Given the description of an element on the screen output the (x, y) to click on. 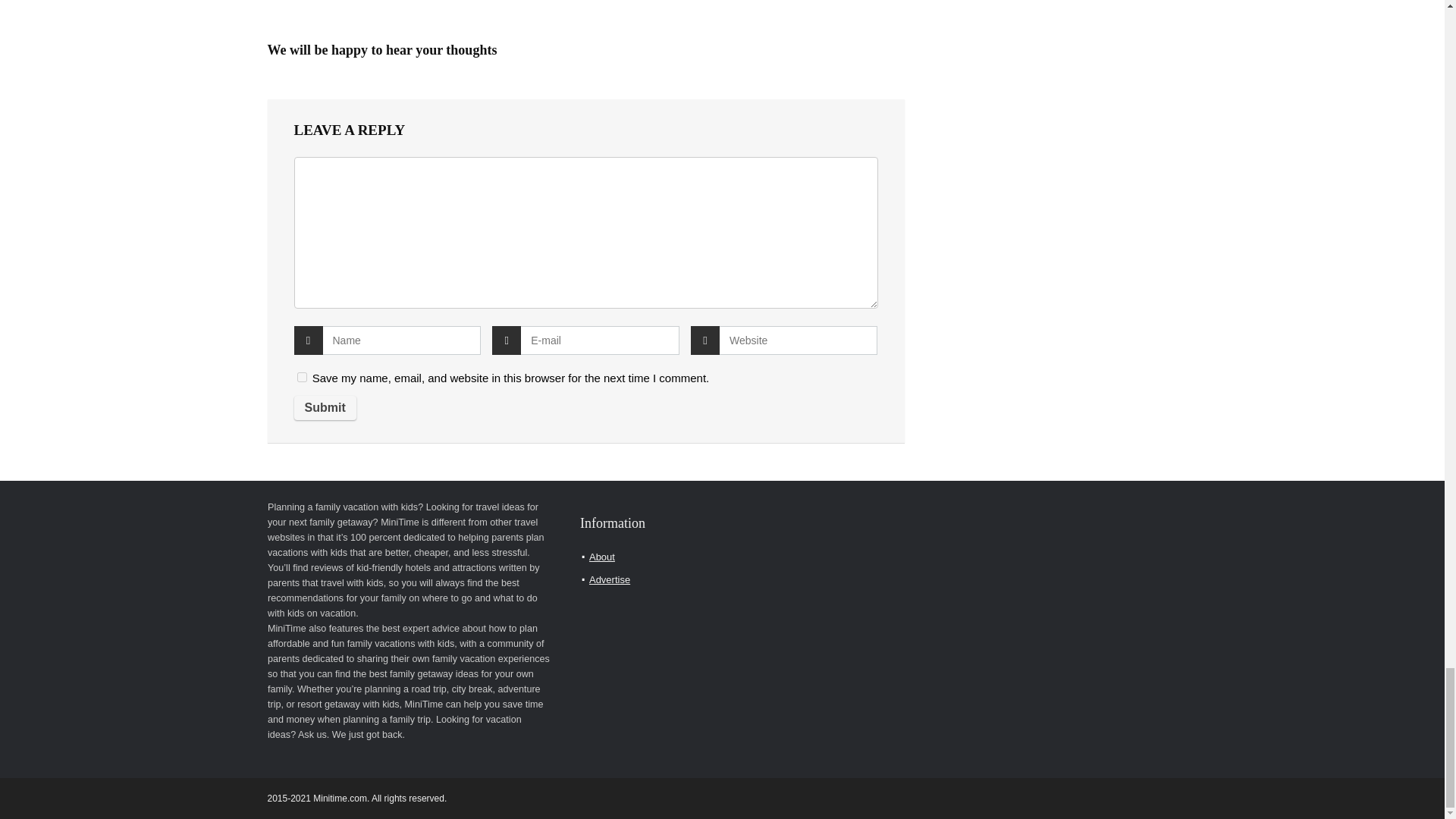
Submit (325, 407)
yes (302, 377)
Submit (325, 407)
